Given the description of an element on the screen output the (x, y) to click on. 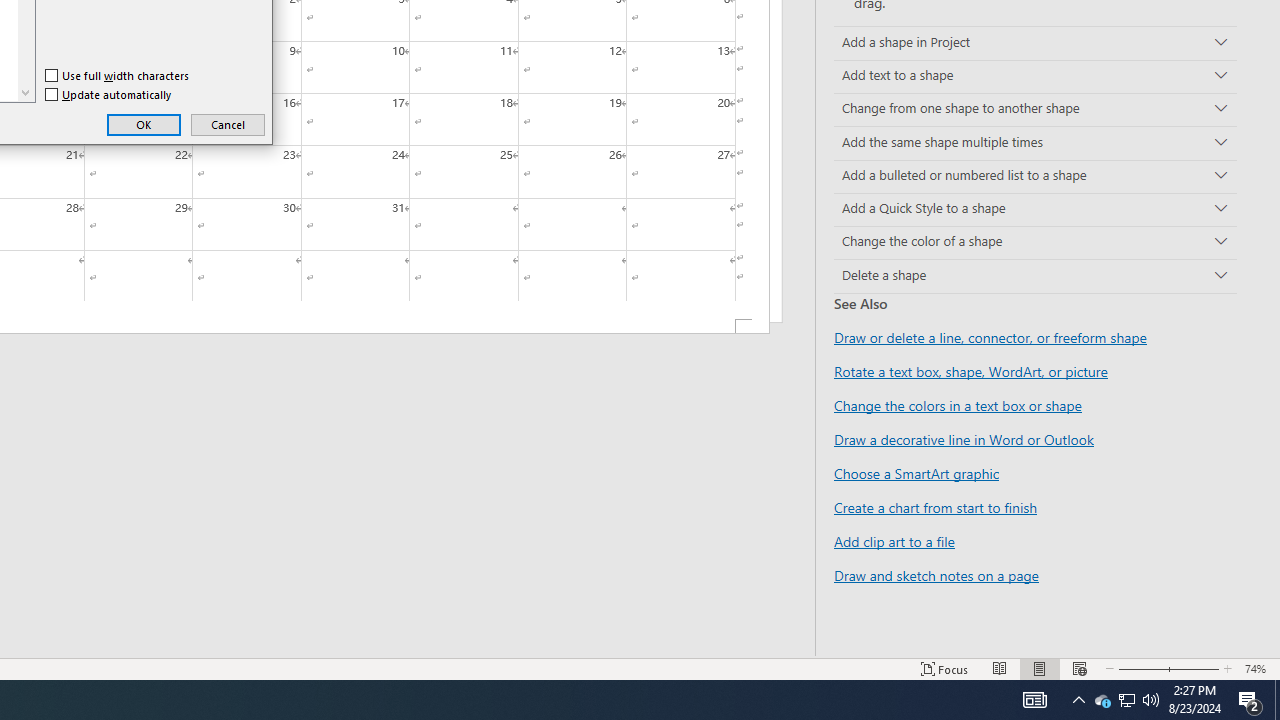
Choose a SmartArt graphic (916, 473)
OK (143, 124)
Draw a decorative line in Word or Outlook (964, 439)
AutomationID: 4105 (1034, 699)
Notification Chevron (1102, 699)
Use full width characters (1078, 699)
Delete a shape (118, 75)
